Given the description of an element on the screen output the (x, y) to click on. 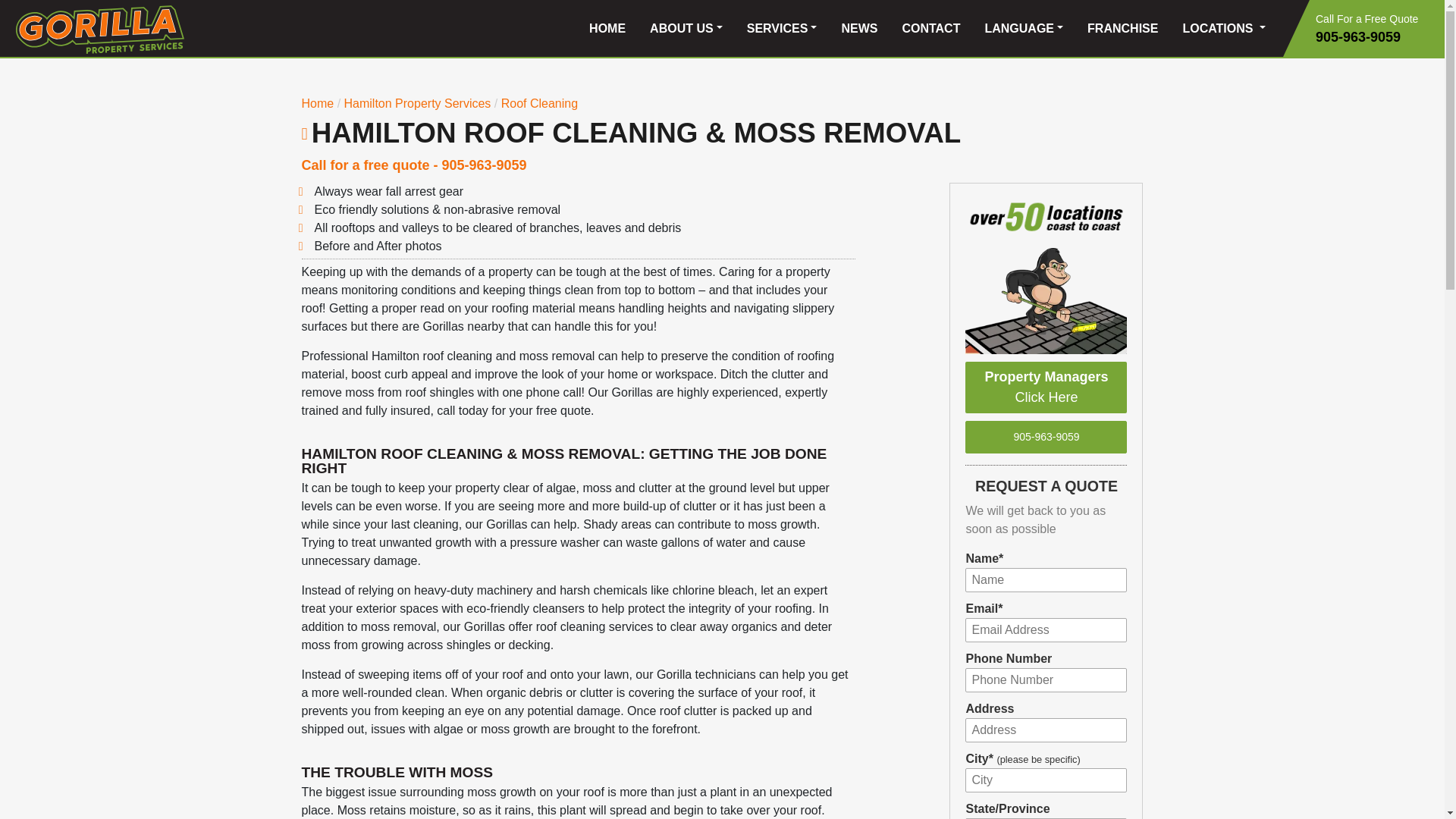
ABOUT US (686, 28)
Home (317, 103)
LOCATIONS (1224, 28)
HOME (606, 28)
NEWS (858, 28)
FRANCHISE (1122, 28)
Services (415, 103)
LANGUAGE (1023, 28)
CONTACT (930, 28)
SERVICES (782, 28)
